Given the description of an element on the screen output the (x, y) to click on. 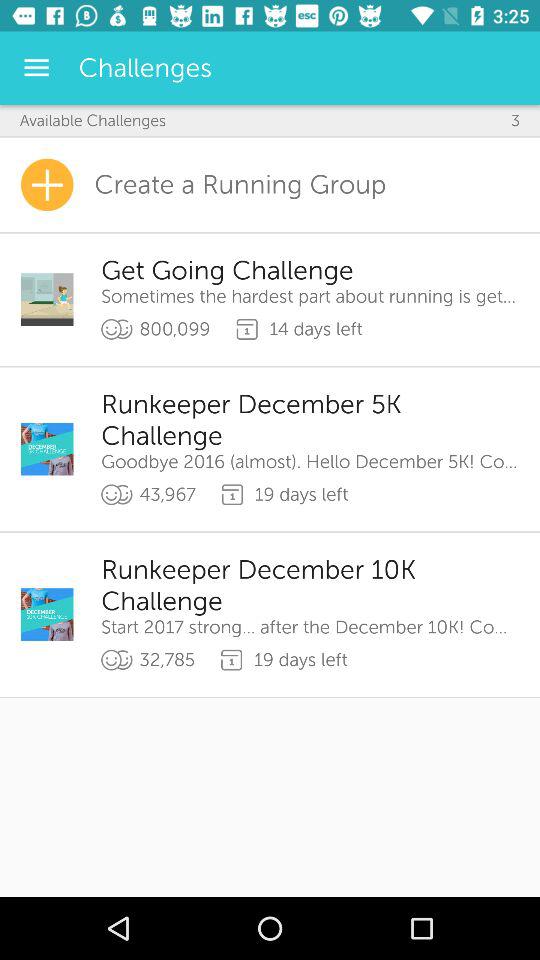
select the icon above the available challenges (36, 68)
